Given the description of an element on the screen output the (x, y) to click on. 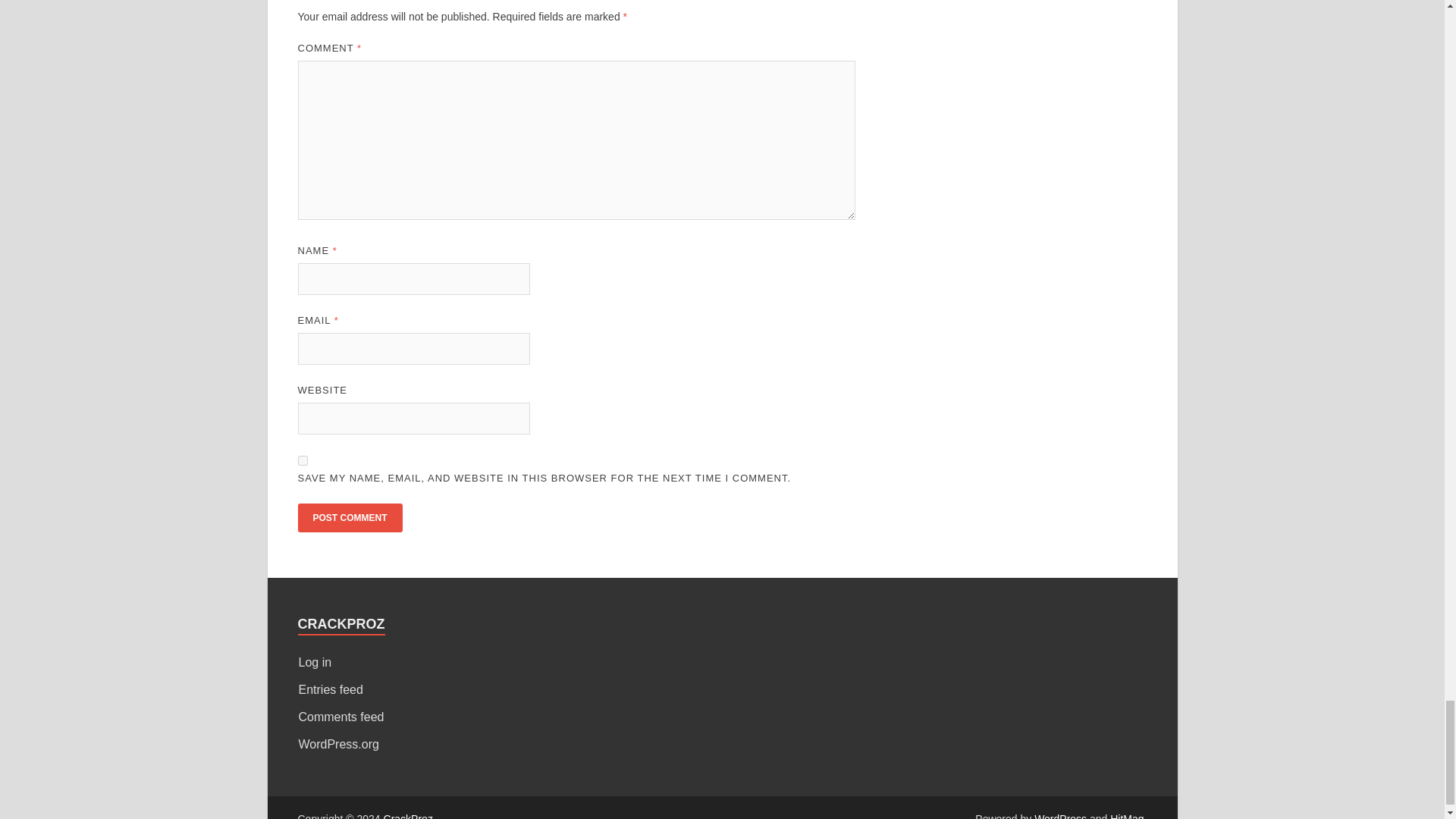
yes (302, 460)
Post Comment (349, 517)
